Given the description of an element on the screen output the (x, y) to click on. 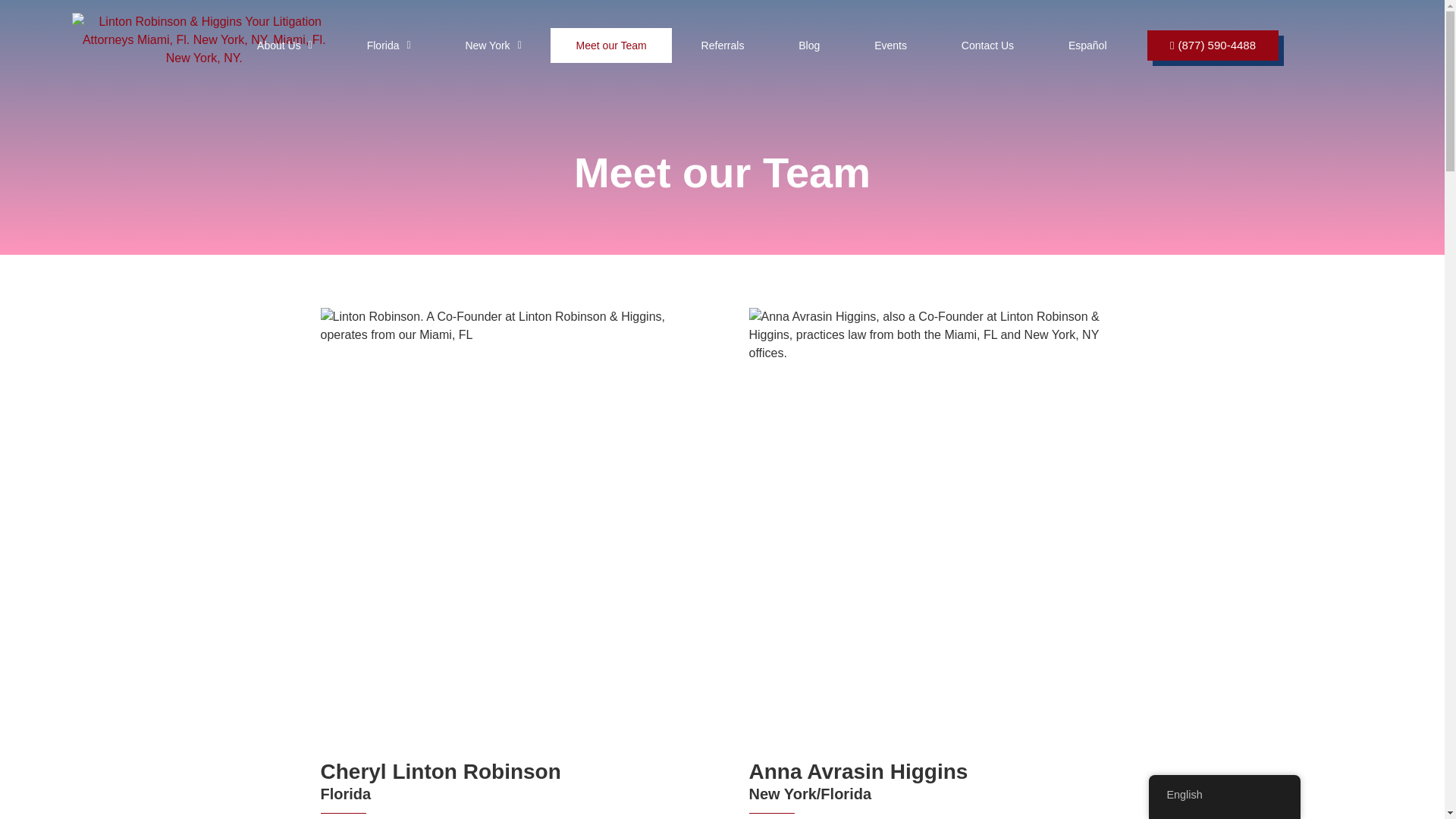
Contact Us (987, 45)
Referrals (722, 45)
Florida (387, 45)
Blog (809, 45)
About Us (284, 45)
New York (493, 45)
Events (890, 45)
Meet our Team (610, 45)
